Given the description of an element on the screen output the (x, y) to click on. 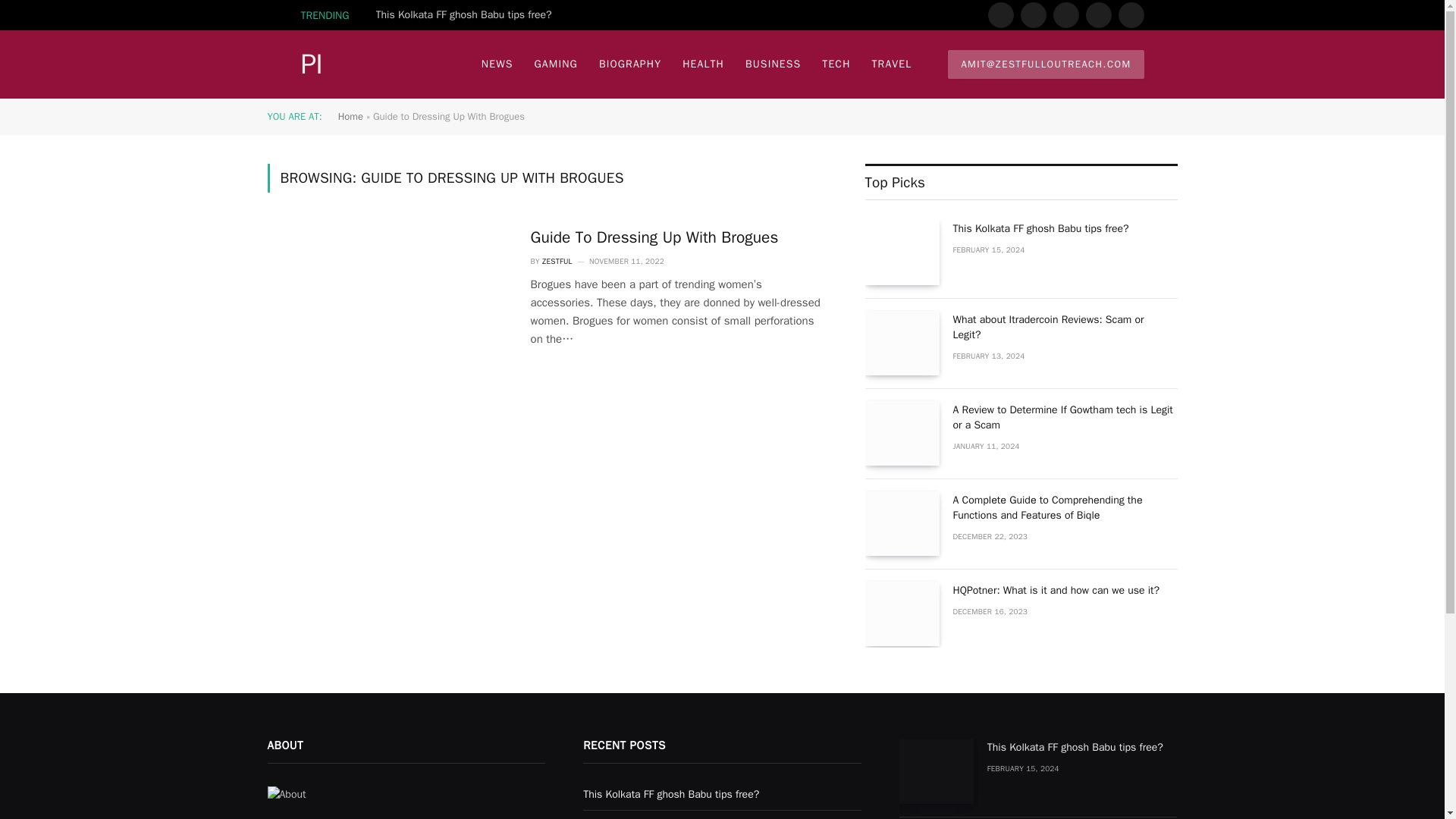
BIOGRAPHY (629, 64)
ZESTFUL (556, 261)
TECH (835, 64)
NEWS (497, 64)
A Review to Determine If Gowtham tech is Legit or a Scam (901, 433)
Posts by zestful (556, 261)
Facebook (1000, 14)
This Kolkata FF ghosh Babu tips free? (467, 15)
TRAVEL (892, 64)
Home (349, 115)
HQPotner: What is it and how can we use it? (901, 613)
PI (314, 64)
YouTube (1130, 14)
plightinternational (314, 64)
